Given the description of an element on the screen output the (x, y) to click on. 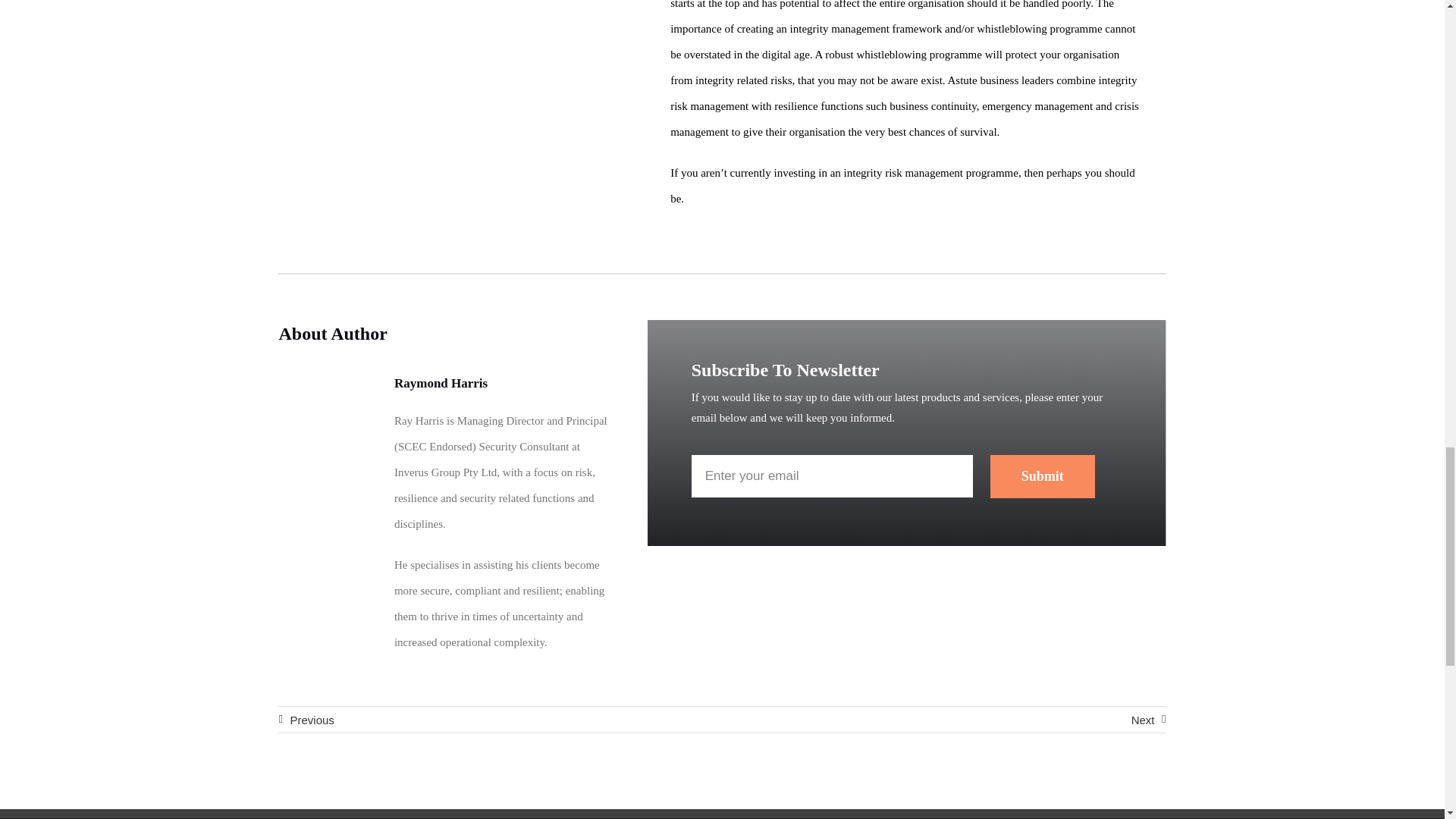
Previous (305, 719)
Submit (1042, 476)
Submit (906, 483)
Next (1148, 719)
post author (327, 426)
